Given the description of an element on the screen output the (x, y) to click on. 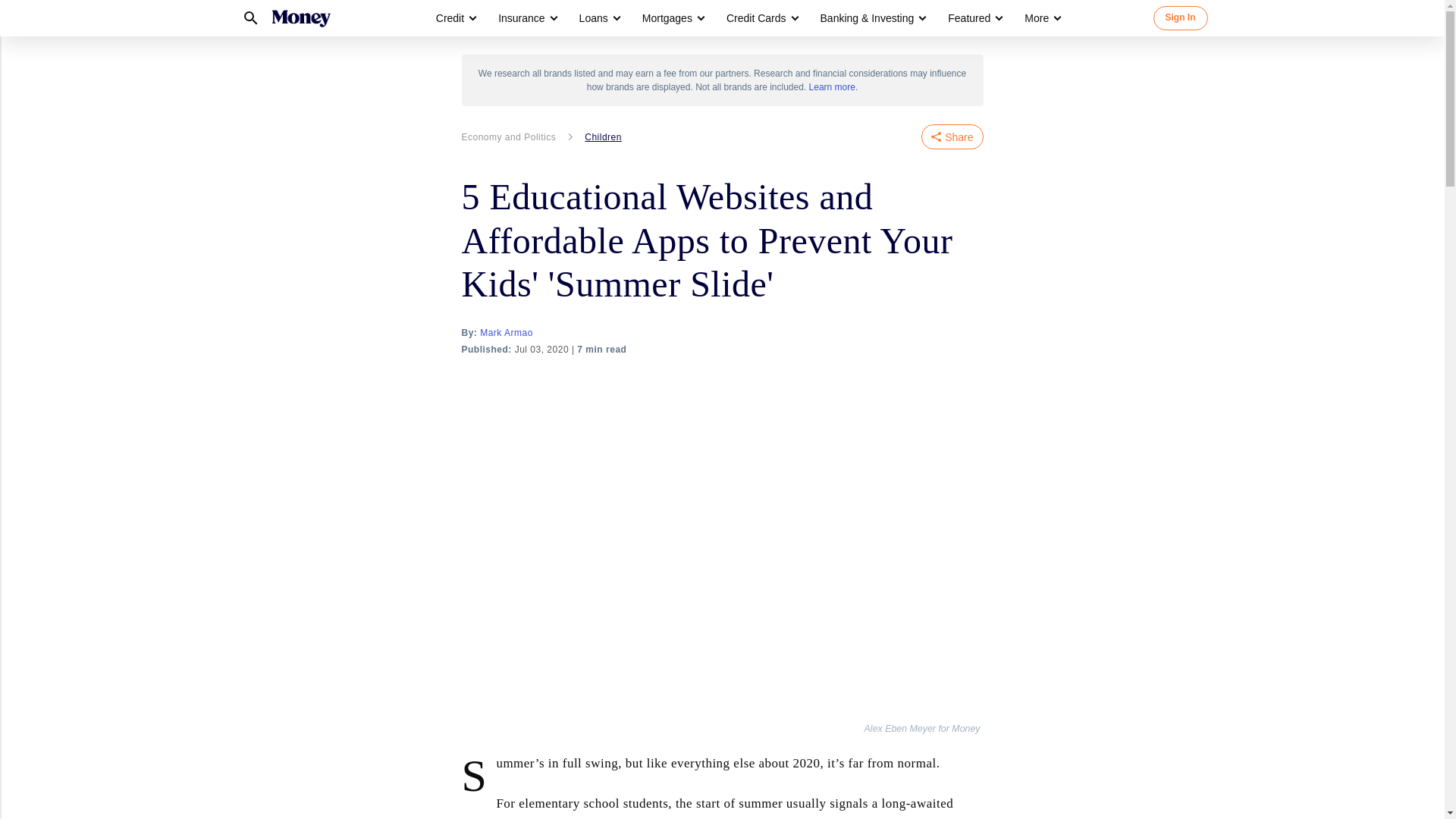
Credit Cards (756, 18)
Insurance (526, 18)
Loans (598, 18)
Insurance (520, 18)
Mortgages (667, 18)
Loans (593, 18)
Mortgages (672, 18)
Credit Cards (761, 18)
Credit (449, 18)
Credit (455, 18)
